Given the description of an element on the screen output the (x, y) to click on. 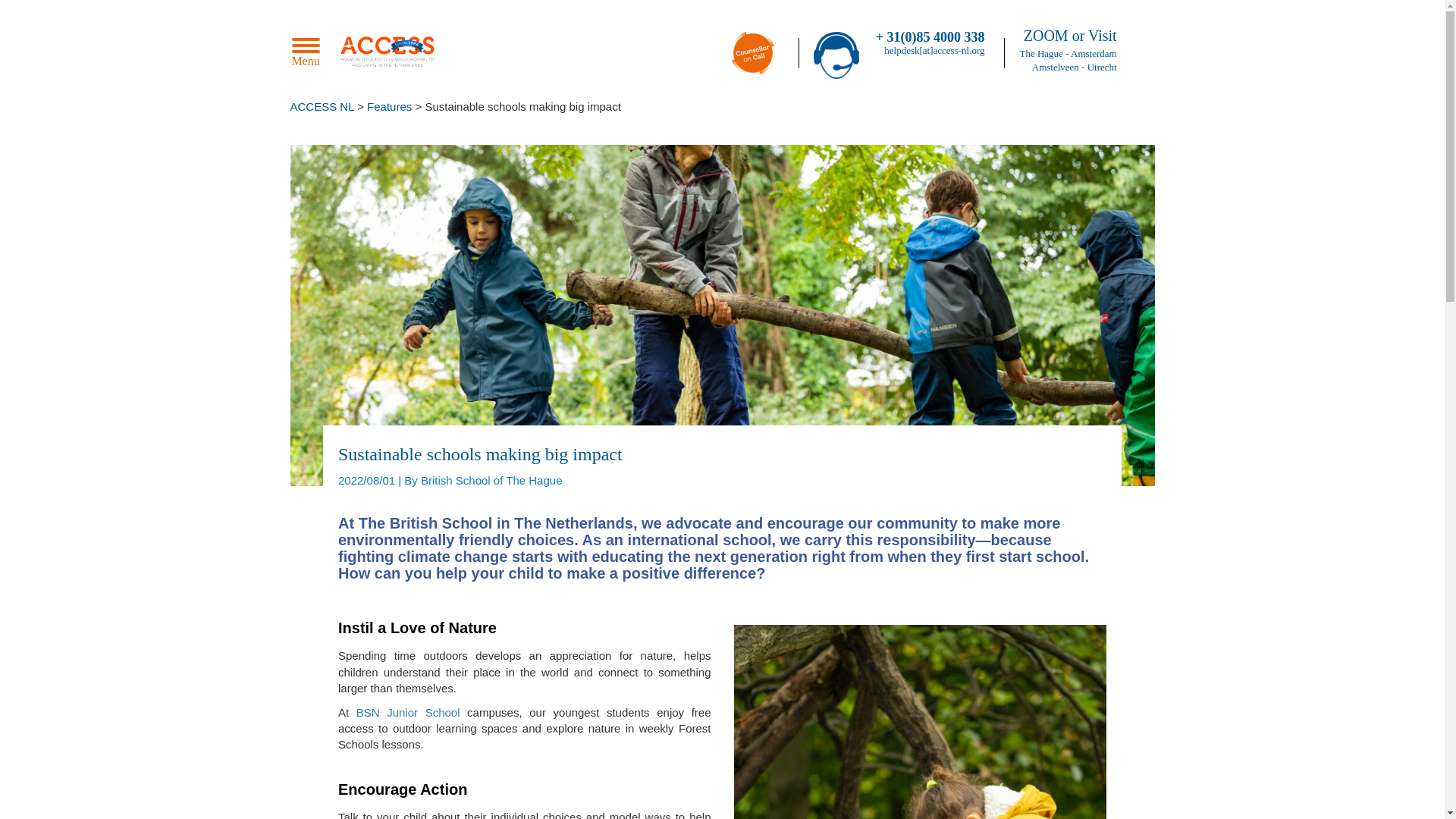
ACCESS NL (321, 106)
2021-bsn-junior school vlaskamp-1655 (919, 721)
BSN Junior School (408, 711)
Go to Features. (389, 106)
Features (389, 106)
Return to homepage. (321, 106)
